Given the description of an element on the screen output the (x, y) to click on. 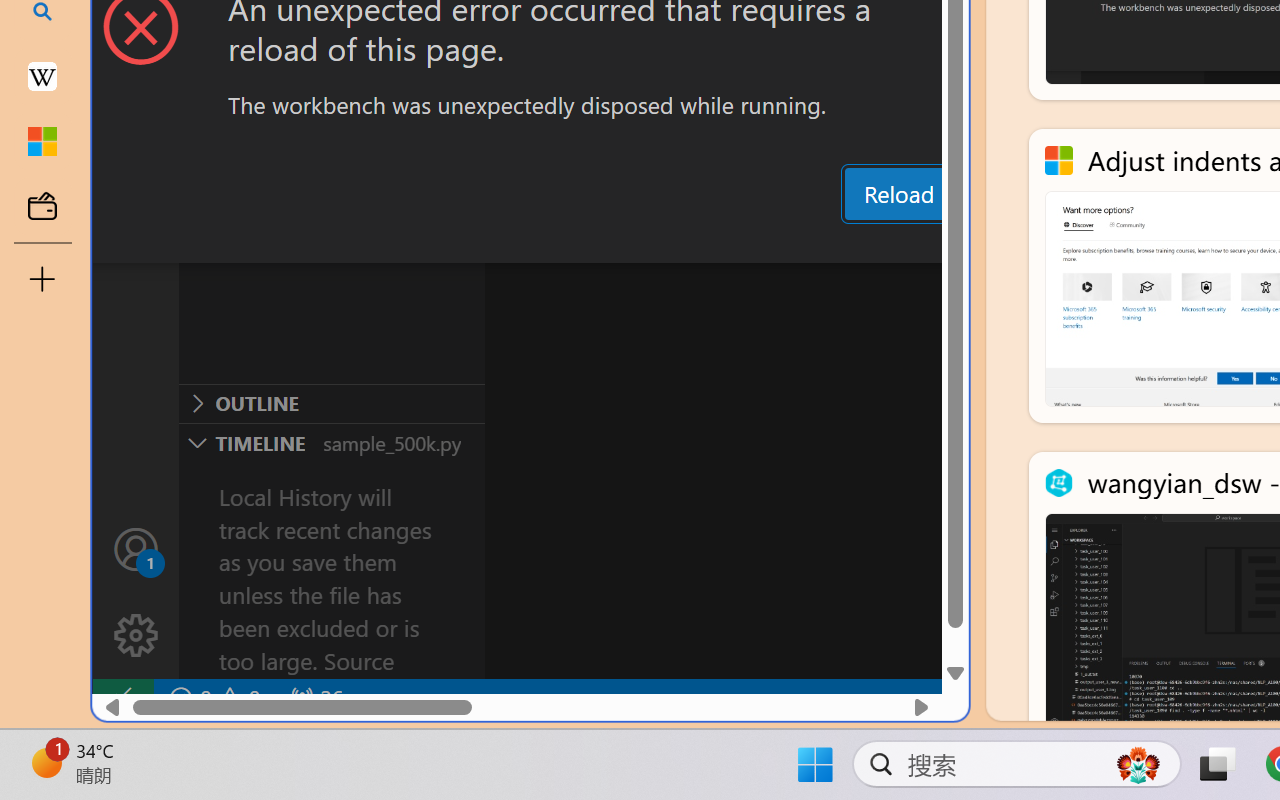
Manage (135, 635)
Earth - Wikipedia (42, 75)
Debug Console (Ctrl+Shift+Y) (854, 243)
Output (Ctrl+Shift+U) (696, 243)
Manage (135, 591)
remote (122, 698)
